Given the description of an element on the screen output the (x, y) to click on. 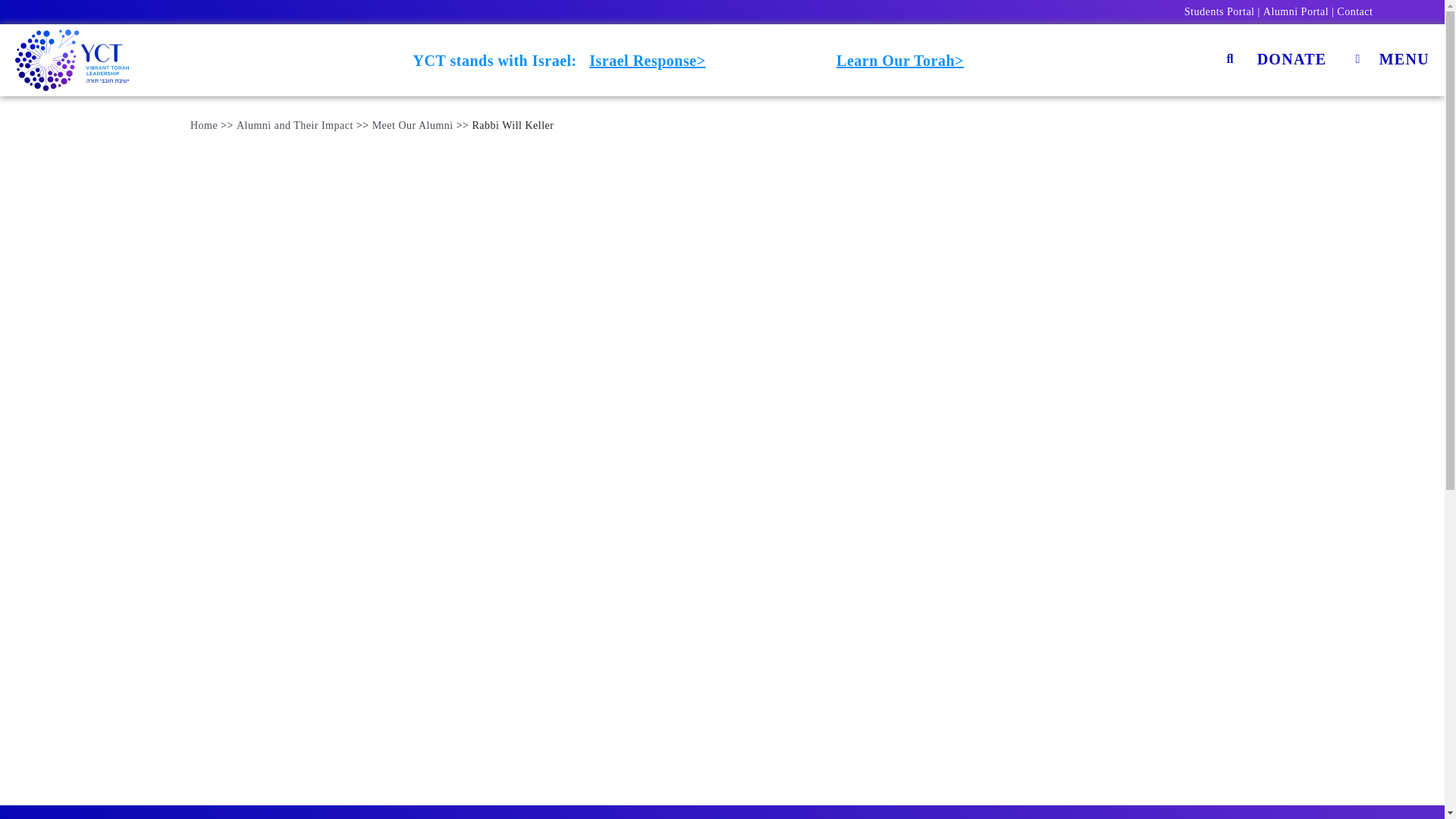
Contact (1354, 11)
Alumni Portal (1295, 11)
MENU (1389, 59)
Students Portal (1220, 11)
DONATE (1291, 59)
